Given the description of an element on the screen output the (x, y) to click on. 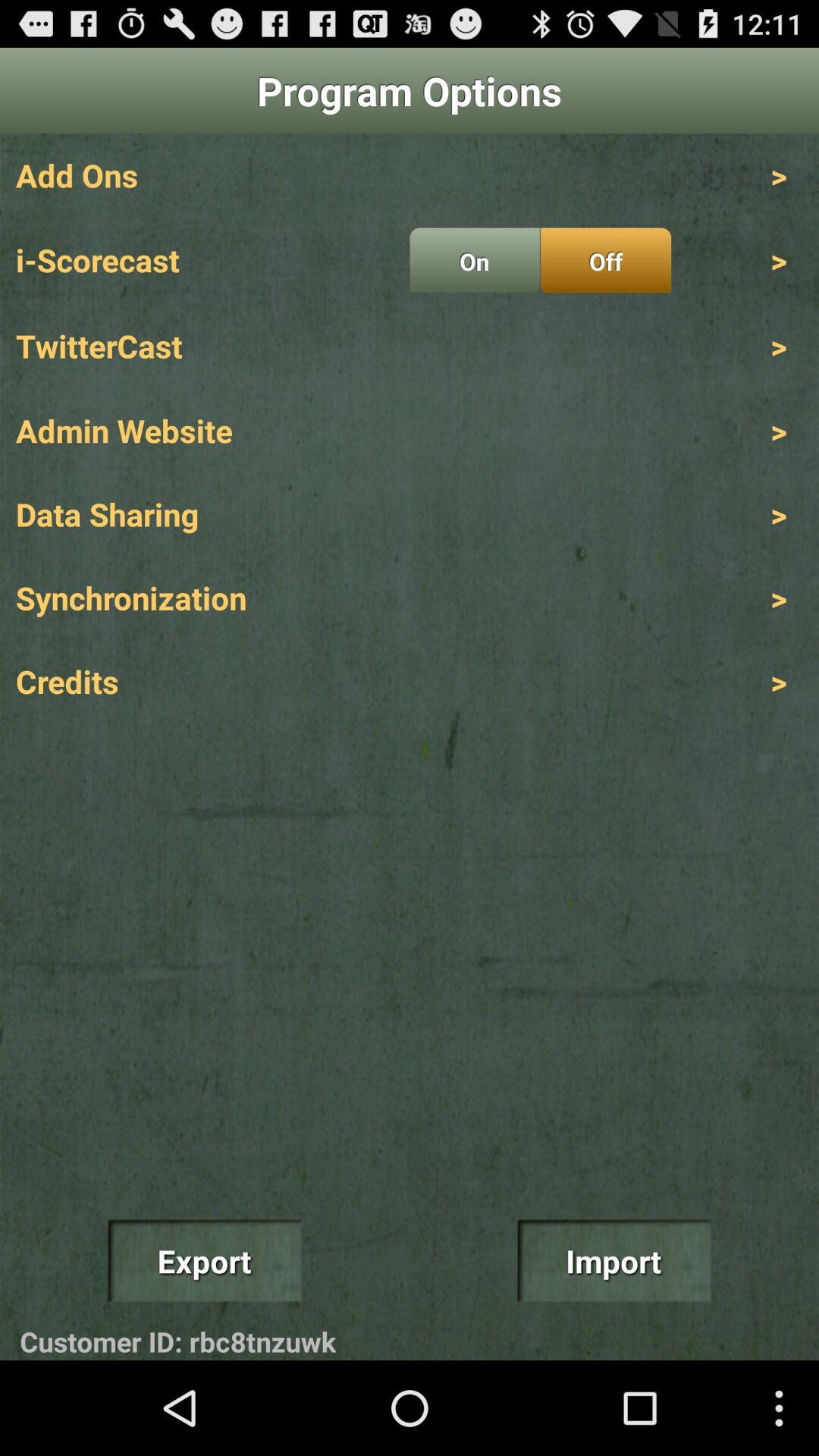
press the item next to the i-scorecast item (474, 259)
